Given the description of an element on the screen output the (x, y) to click on. 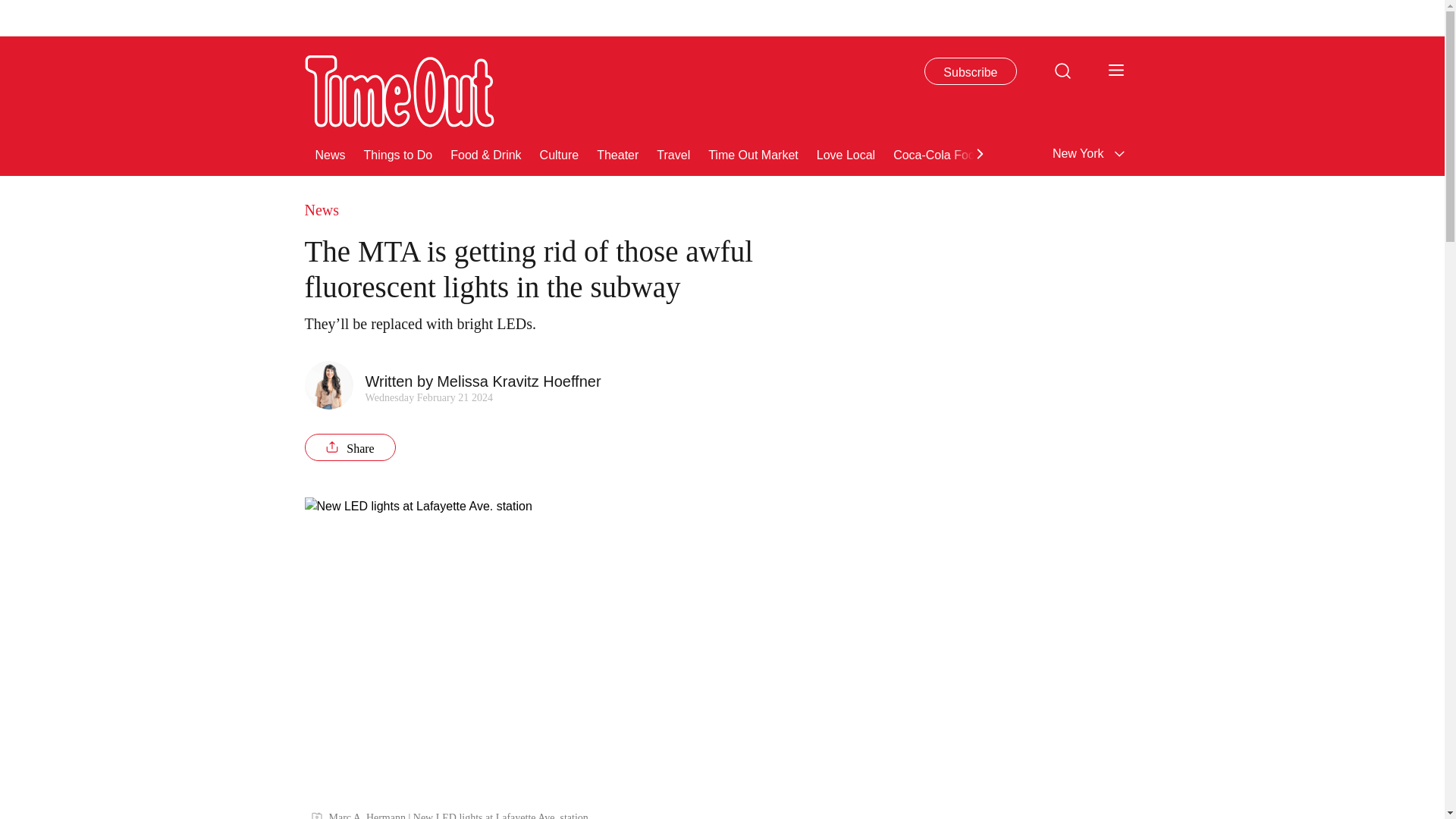
Things to Do (397, 153)
Music (1293, 153)
Travel (673, 153)
Culture (559, 153)
Search (1061, 69)
Time Out Market (752, 153)
News (330, 153)
Go to the content (10, 7)
Museums (1176, 153)
Love Local (845, 153)
